Given the description of an element on the screen output the (x, y) to click on. 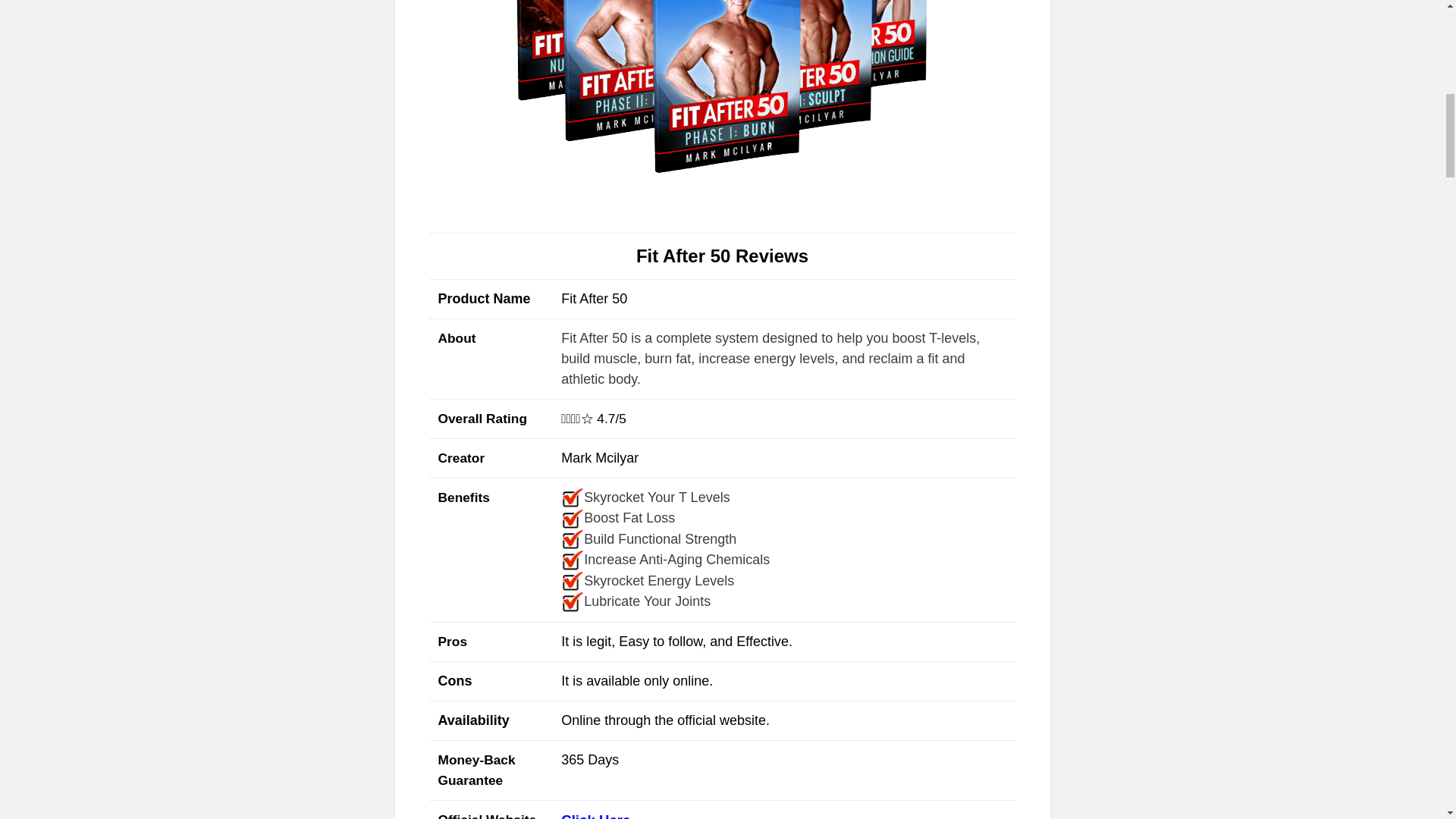
Click Here (595, 816)
